Given the description of an element on the screen output the (x, y) to click on. 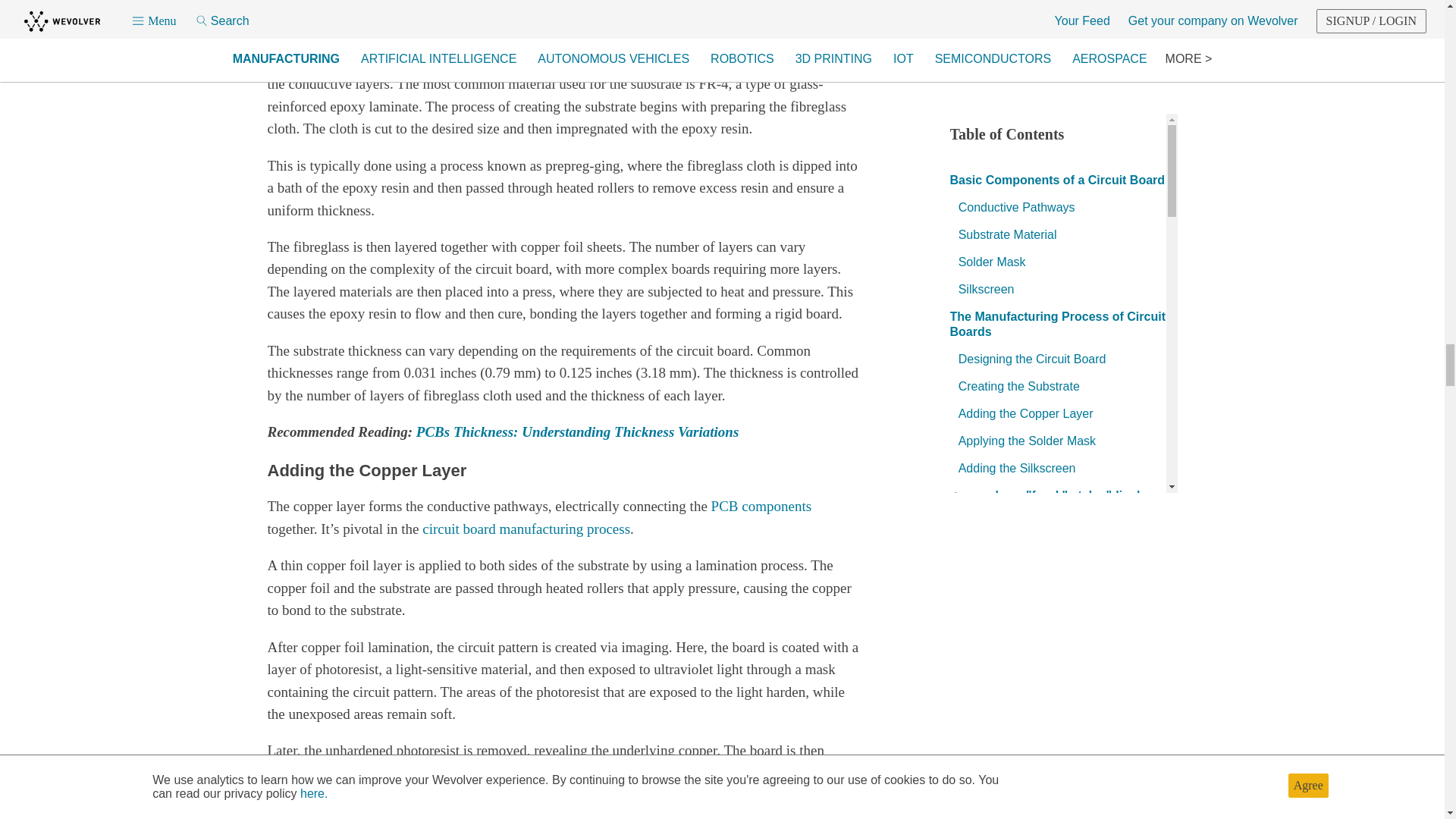
circuit board manufacturing process (526, 528)
PCB components (760, 505)
PCBs Thickness: Understanding Thickness Variations (577, 431)
